Given the description of an element on the screen output the (x, y) to click on. 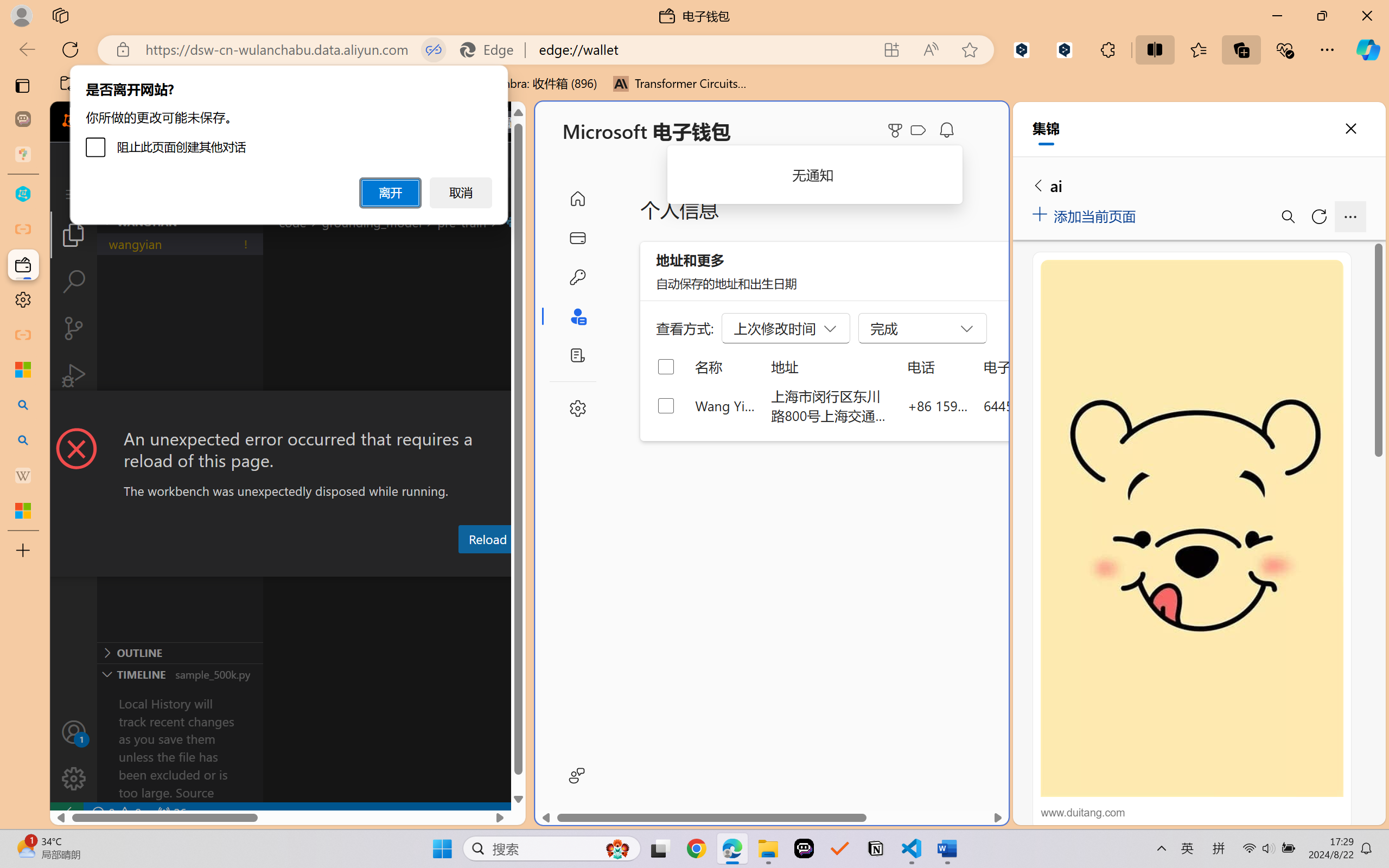
Microsoft Cashback (920, 130)
Outline Section (179, 652)
Google Chrome (696, 848)
Output (Ctrl+Shift+U) (377, 565)
